Given the description of an element on the screen output the (x, y) to click on. 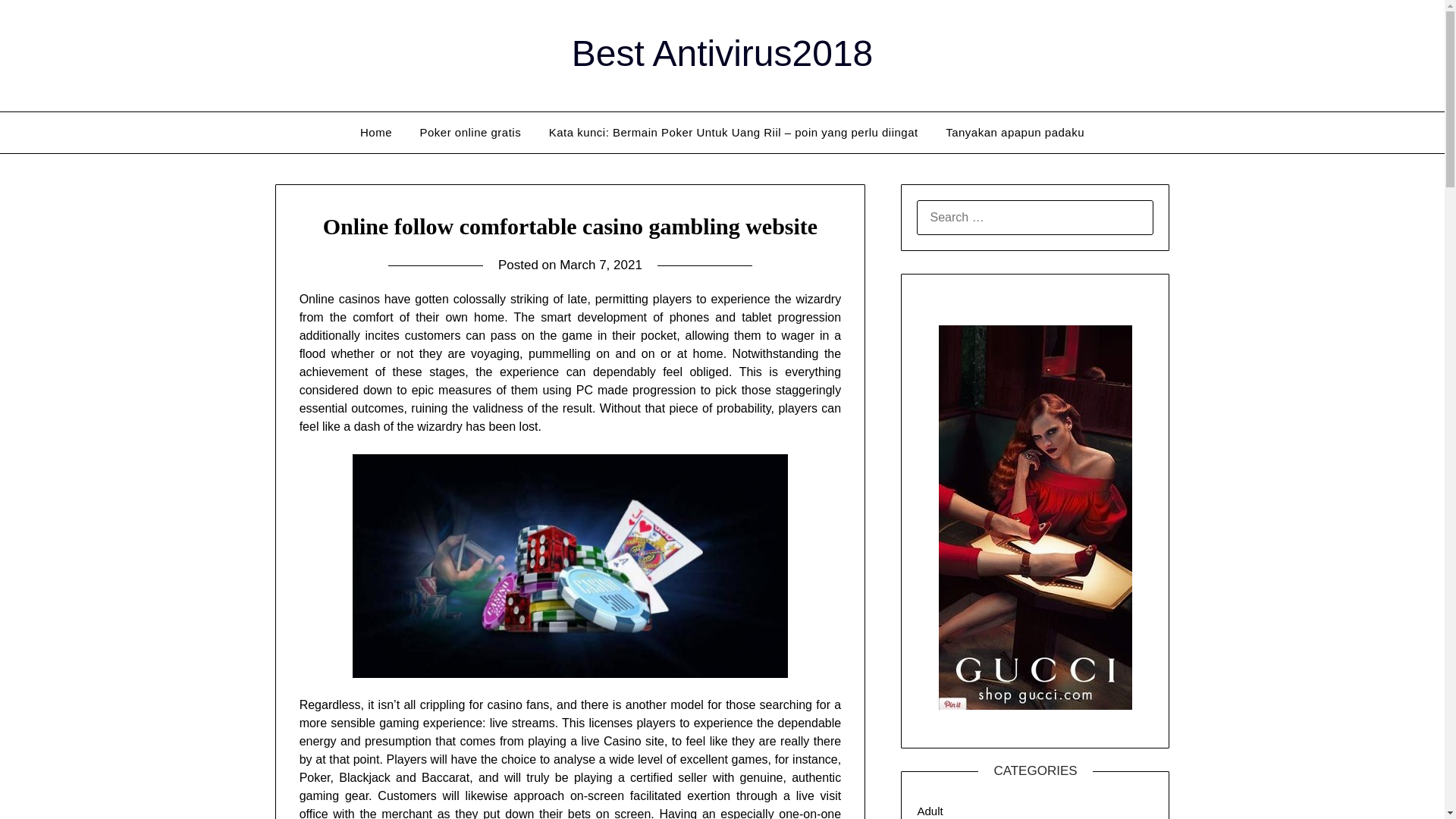
Poker online gratis (469, 132)
March 7, 2021 (600, 264)
Adult (929, 810)
Search (38, 22)
Best Antivirus2018 (722, 53)
Home (375, 132)
Tanyakan apapun padaku (1014, 132)
